Given the description of an element on the screen output the (x, y) to click on. 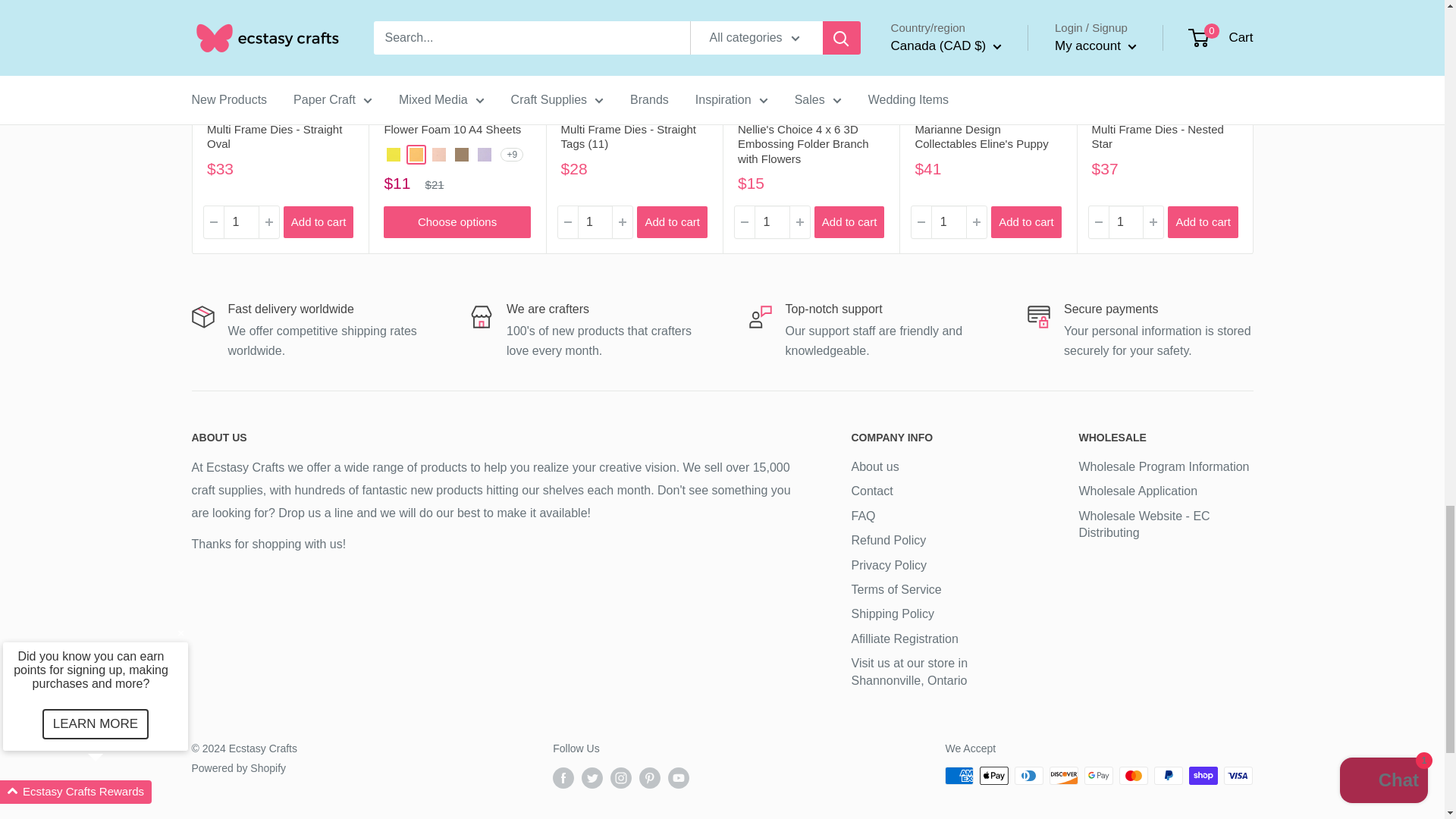
1 (1125, 223)
Mustard (416, 154)
Beige (461, 154)
Light Violet (484, 154)
1 (948, 223)
1 (771, 223)
Bright Yellow (393, 154)
Salmon (438, 154)
1 (240, 223)
1 (594, 223)
